Given the description of an element on the screen output the (x, y) to click on. 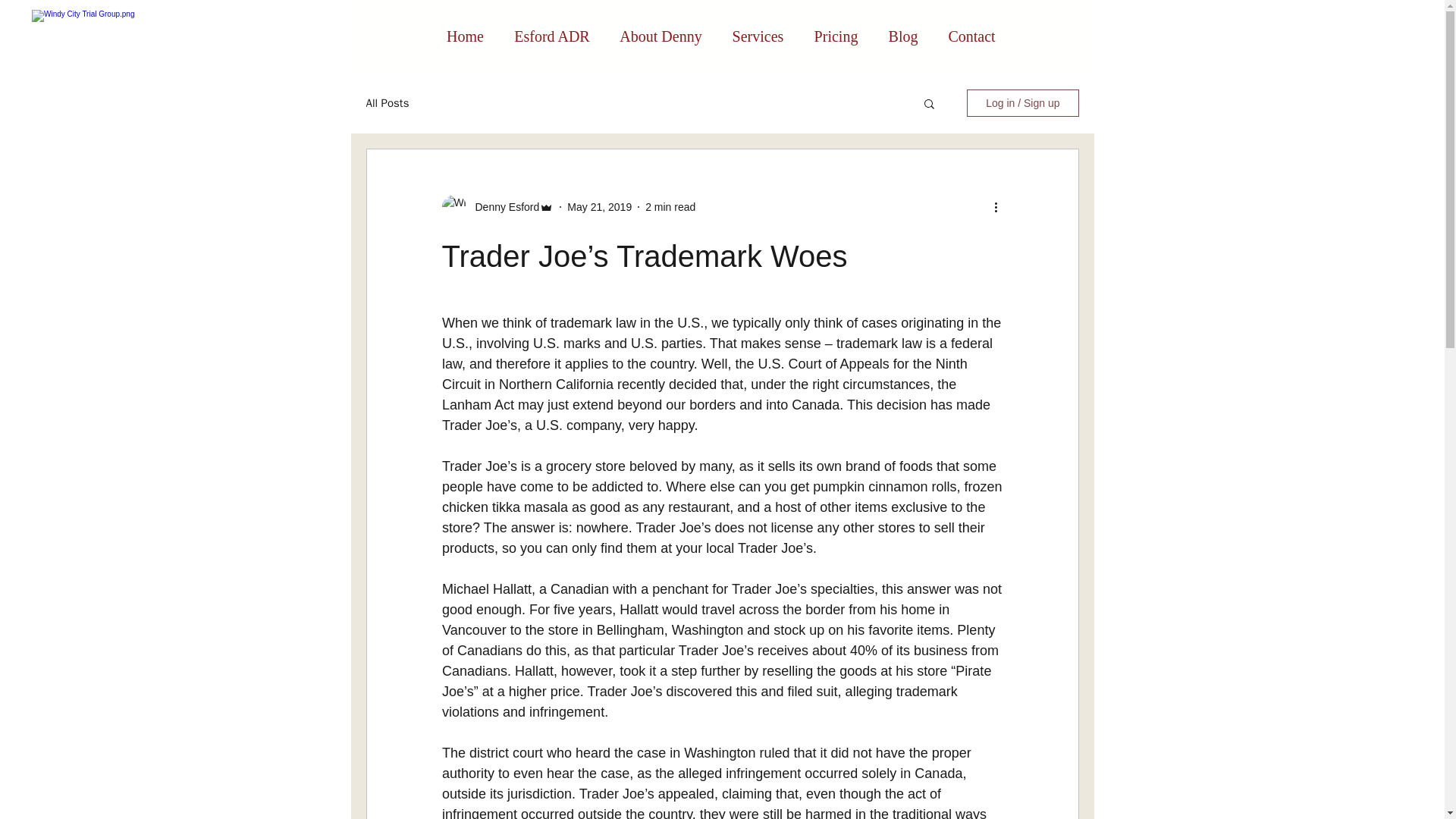
May 21, 2019 (599, 205)
All Posts (387, 102)
About Denny (661, 35)
Contact (971, 35)
2 min read (670, 205)
Home (464, 35)
Blog (903, 35)
Pricing (836, 35)
Denny Esford (501, 206)
Esford ADR (551, 35)
